Given the description of an element on the screen output the (x, y) to click on. 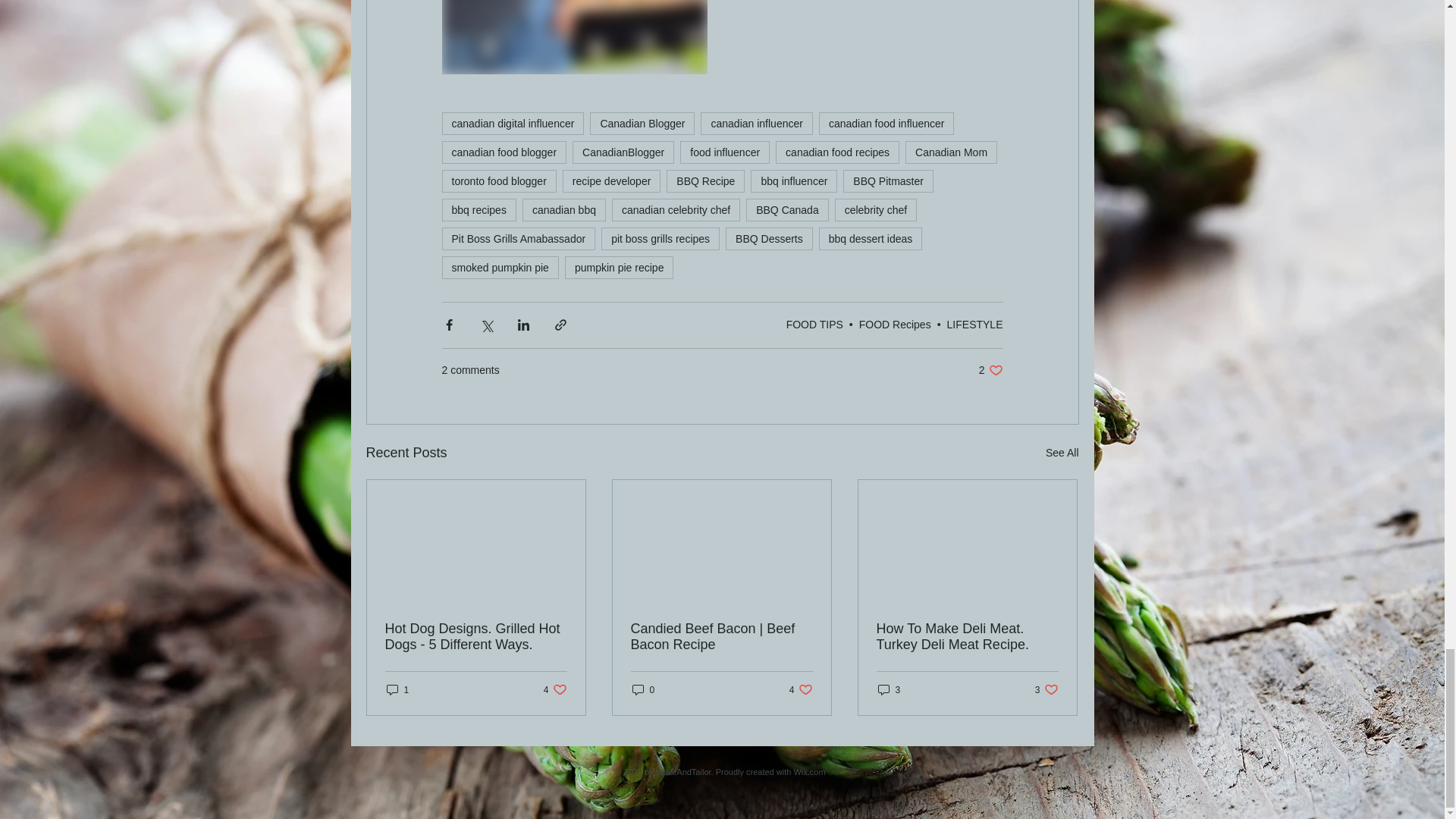
Canadian Mom (951, 151)
CanadianBlogger (623, 151)
Canadian Blogger (641, 123)
bbq influencer (794, 180)
canadian influencer (756, 123)
BBQ Pitmaster (888, 180)
canadian digital influencer (512, 123)
toronto food blogger (498, 180)
canadian celebrity chef (675, 210)
canadian food blogger (503, 151)
canadian food influencer (886, 123)
canadian bbq (563, 210)
recipe developer (611, 180)
food influencer (724, 151)
BBQ Canada (786, 210)
